Given the description of an element on the screen output the (x, y) to click on. 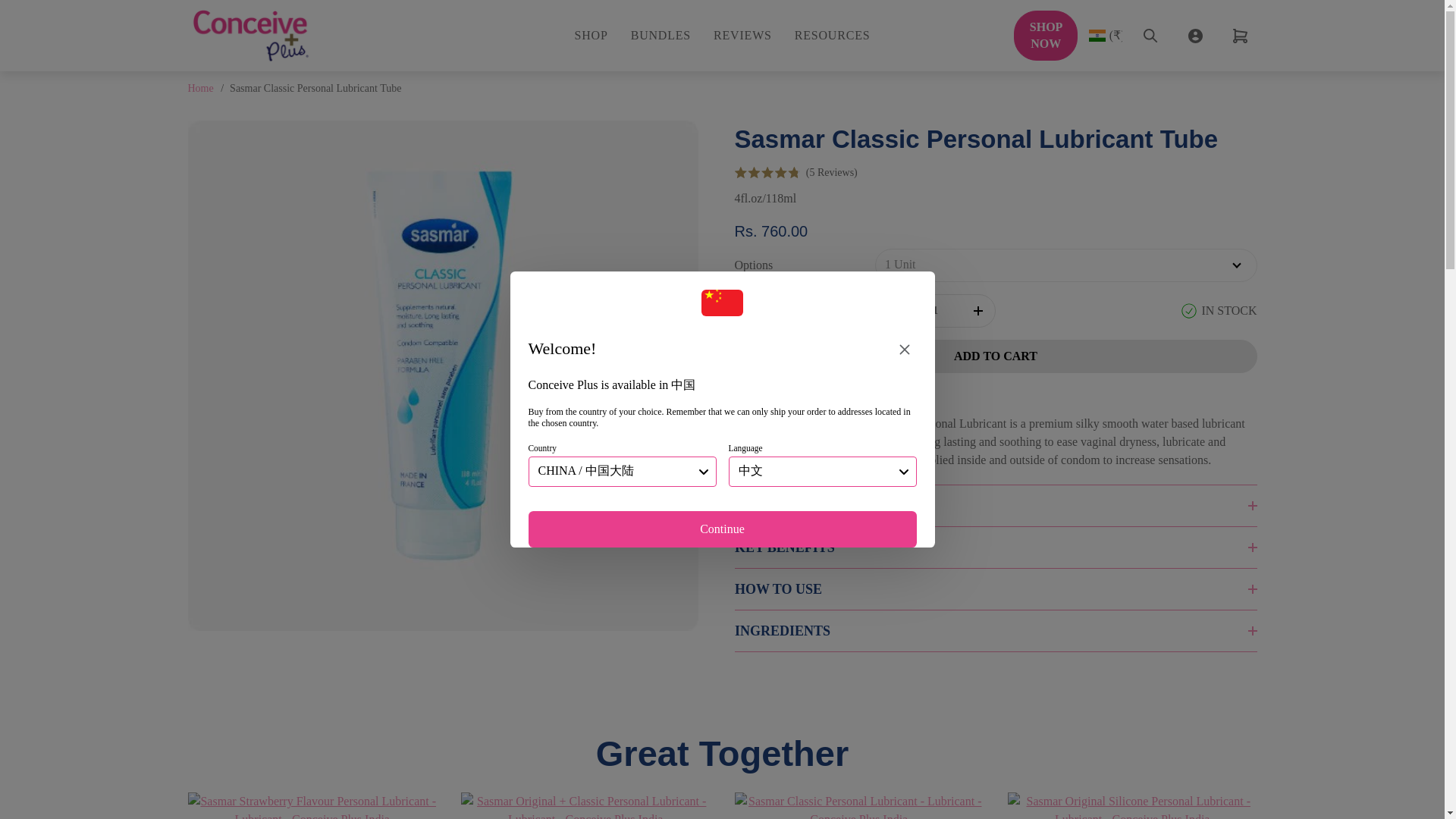
BUNDLES (660, 35)
Continue (721, 529)
SHOP NOW (1045, 35)
1 (934, 310)
REVIEWS (742, 35)
Go to account page (1194, 35)
